Given the description of an element on the screen output the (x, y) to click on. 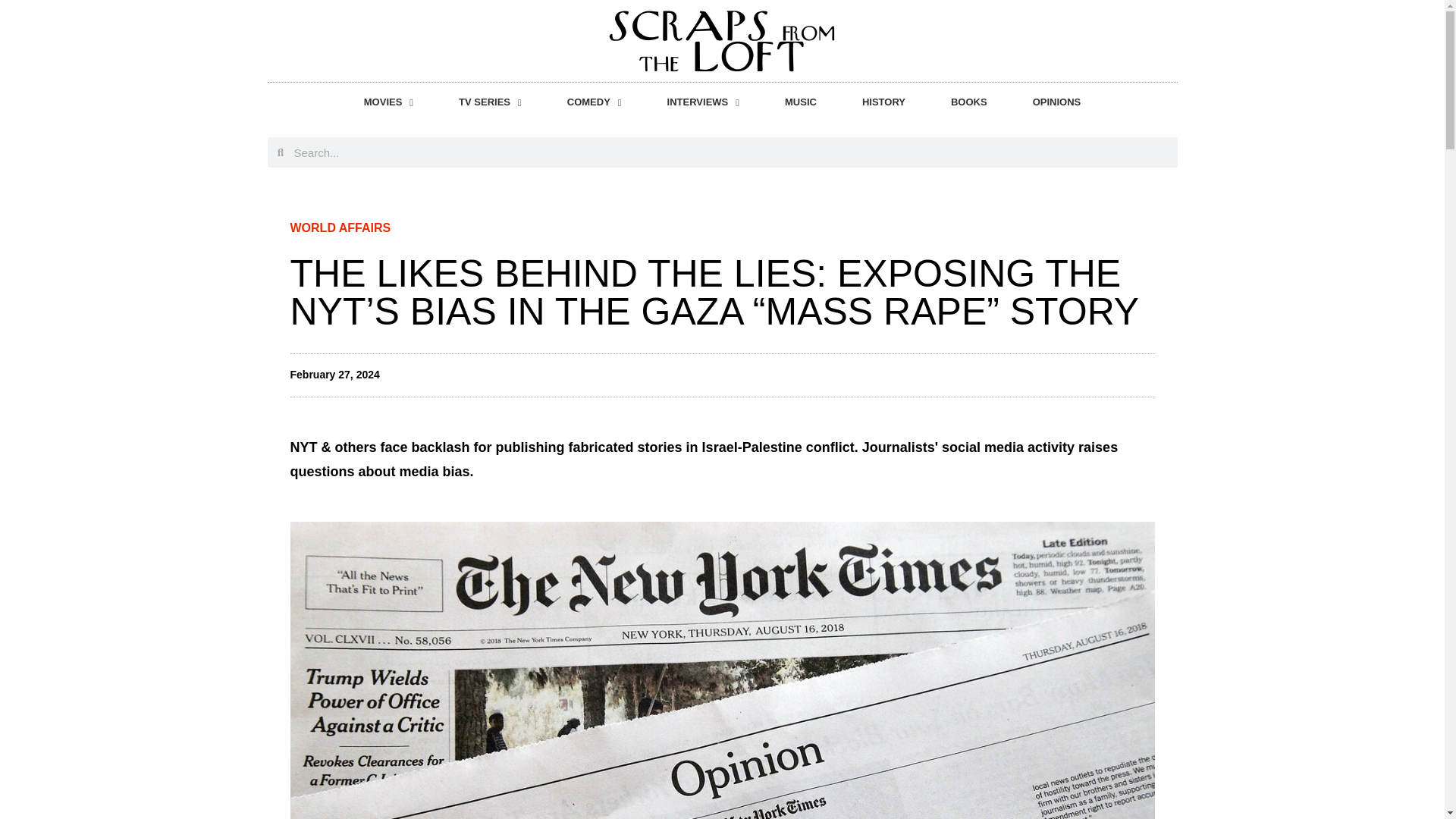
TV SERIES (489, 102)
INTERVIEWS (703, 102)
OPINIONS (1056, 102)
HISTORY (884, 102)
MOVIES (387, 102)
BOOKS (969, 102)
COMEDY (594, 102)
MUSIC (800, 102)
